Given the description of an element on the screen output the (x, y) to click on. 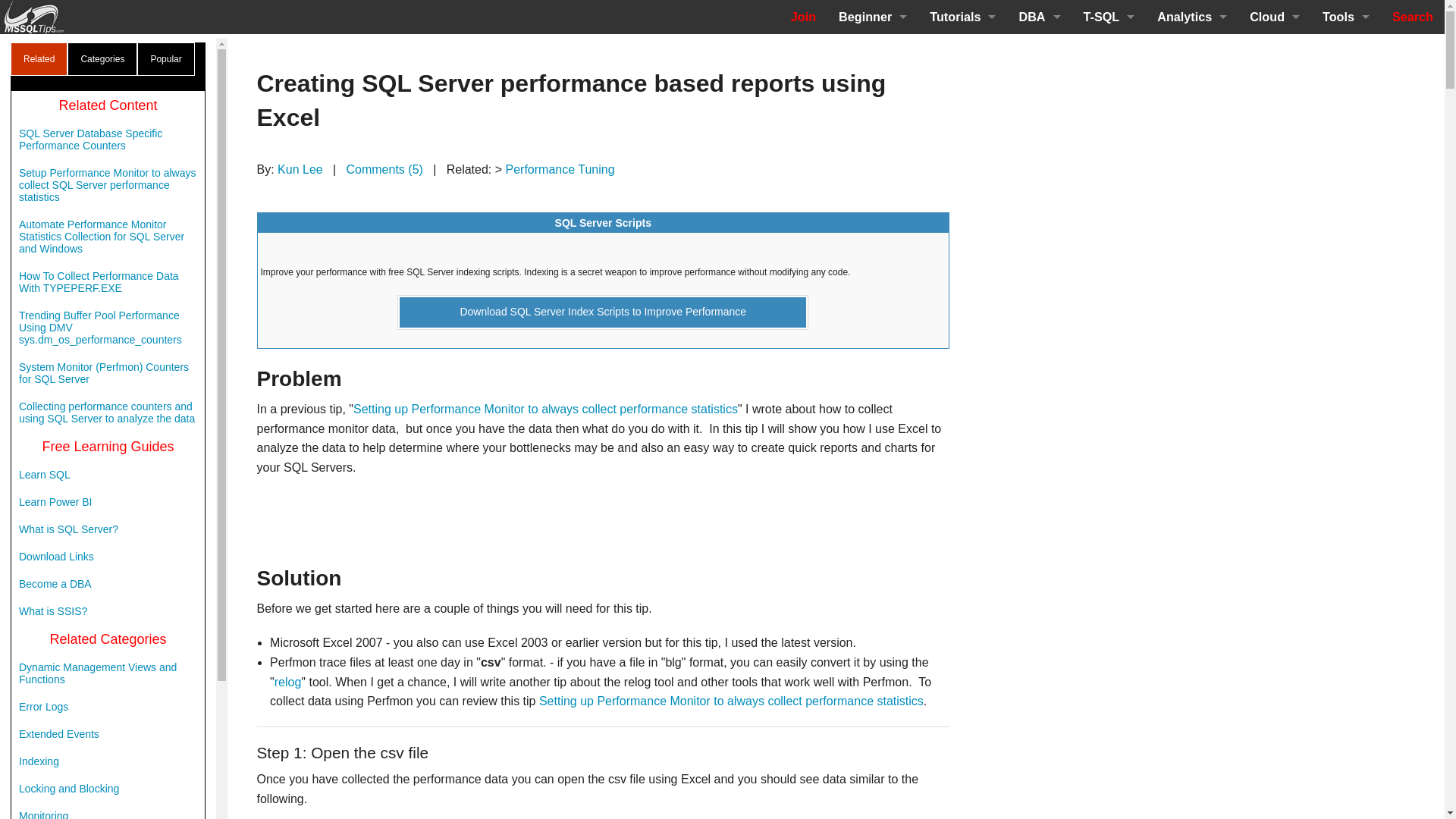
DBA (1039, 17)
My First BI Project (872, 187)
Backup (1039, 289)
Stored Procedures (962, 84)
SQL Server Download Links (872, 153)
Database Administration (1039, 50)
read and post comments (384, 169)
Tutorials (962, 17)
All Categories (1039, 426)
SQL Server 101 (962, 50)
Performance Tuning (1039, 84)
Monitoring (1039, 119)
Management Studio (1039, 255)
Webinars (1039, 392)
author profile for Kun Lee (300, 169)
